Given the description of an element on the screen output the (x, y) to click on. 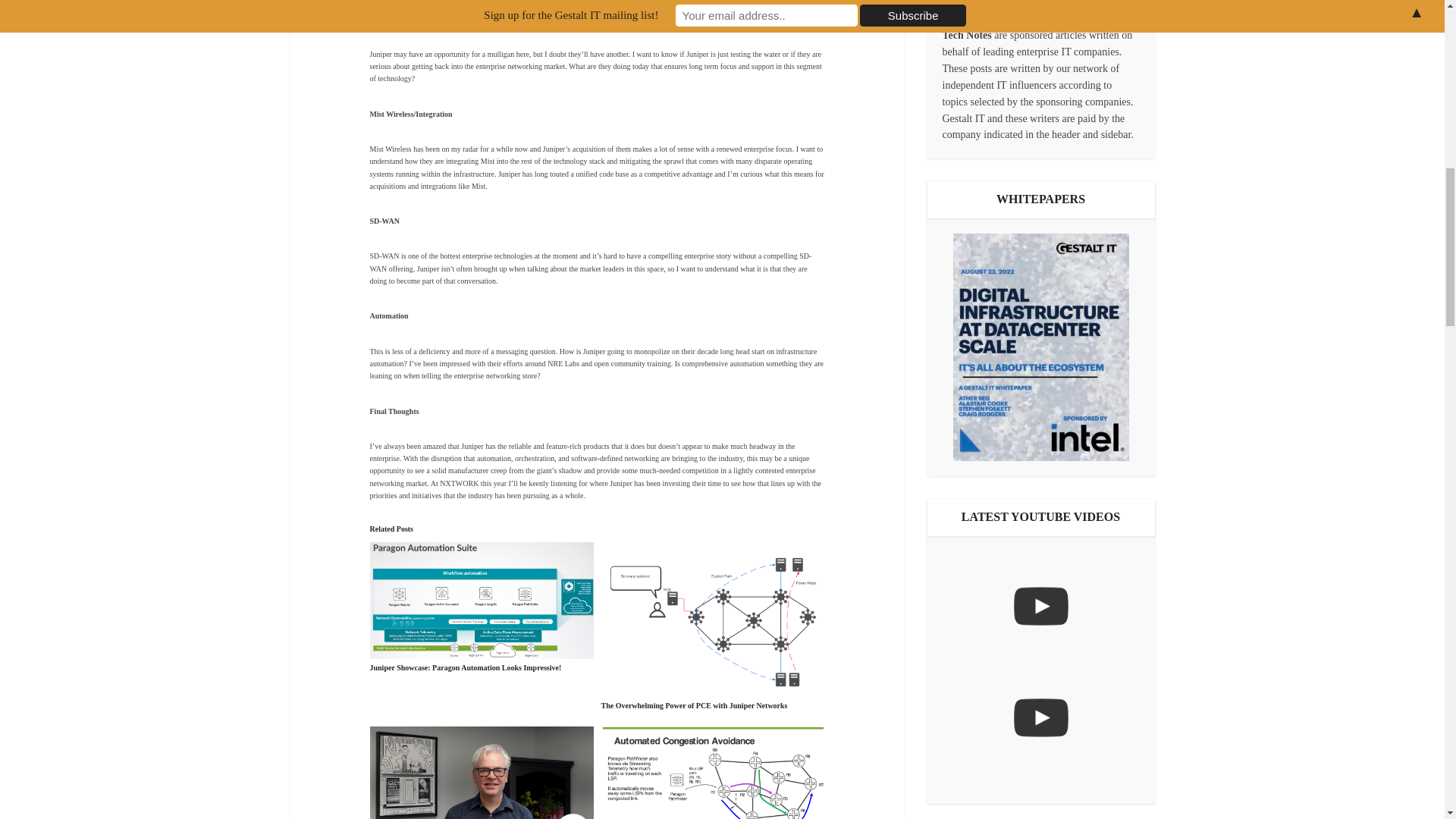
Google Looking to Make Magic with Wiz (1040, 606)
Mirantis Updates its Kubernetes Platform (1040, 717)
